Given the description of an element on the screen output the (x, y) to click on. 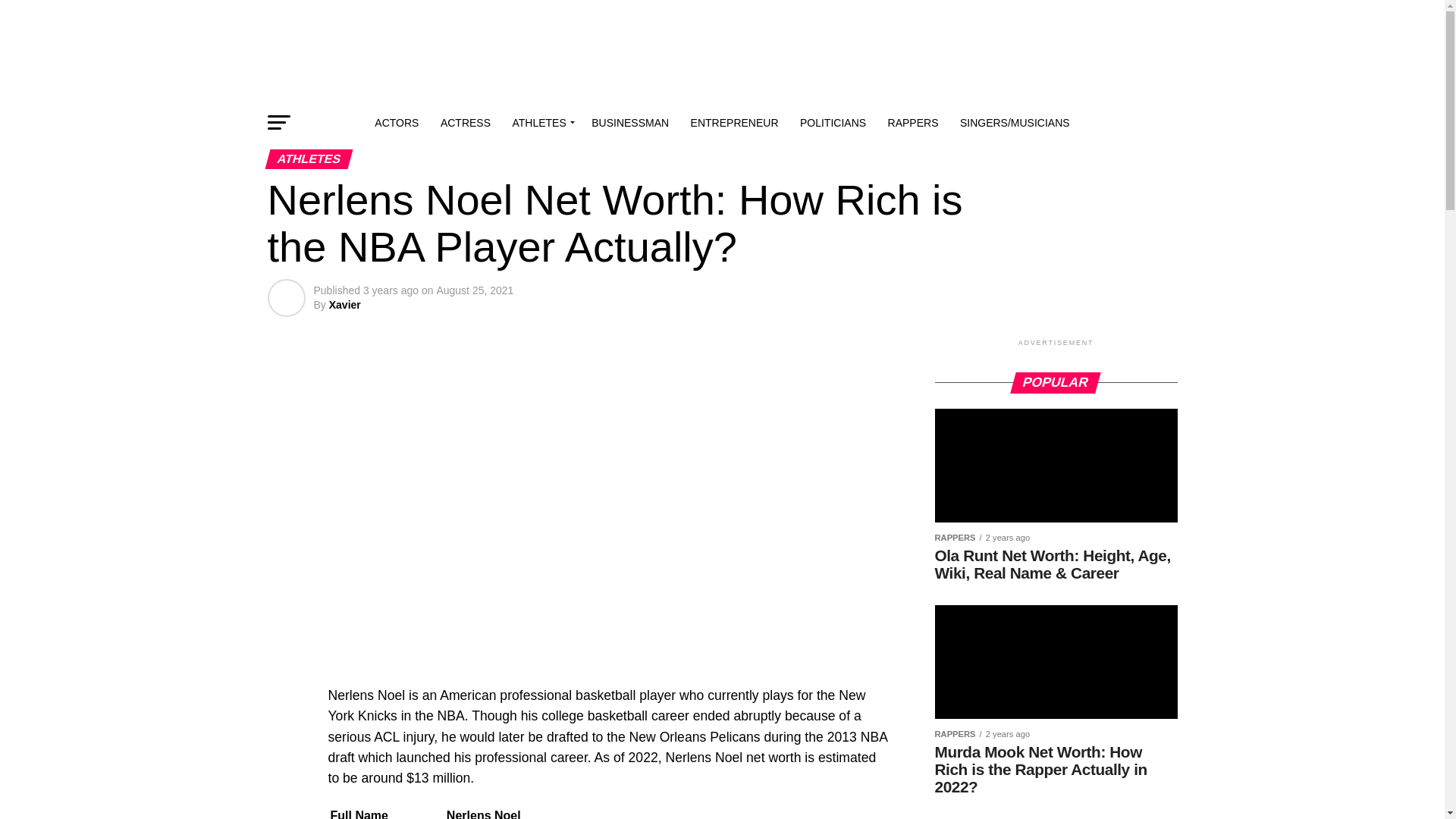
ACTRESS (464, 122)
ATHLETES (540, 122)
Posts by Xavier (345, 304)
ACTORS (396, 122)
